Given the description of an element on the screen output the (x, y) to click on. 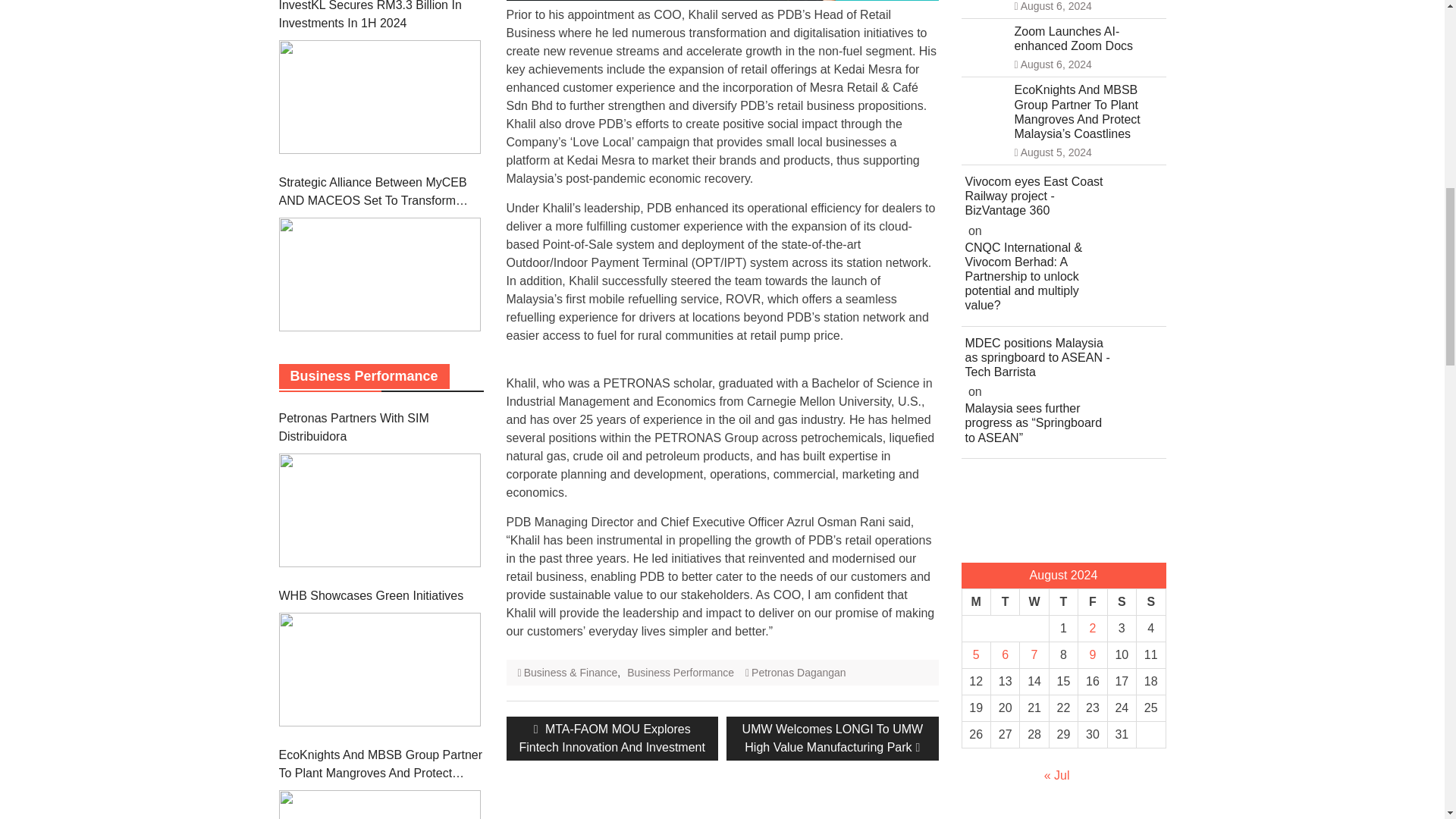
InvestKL Secures RM3.3 Billion In Investments In 1H 2024 (379, 96)
Wednesday (1034, 601)
WHB Showcases Green Initiatives (379, 669)
Tuesday (1004, 601)
Sunday (1151, 601)
Thursday (1062, 601)
Monday (975, 601)
